Given the description of an element on the screen output the (x, y) to click on. 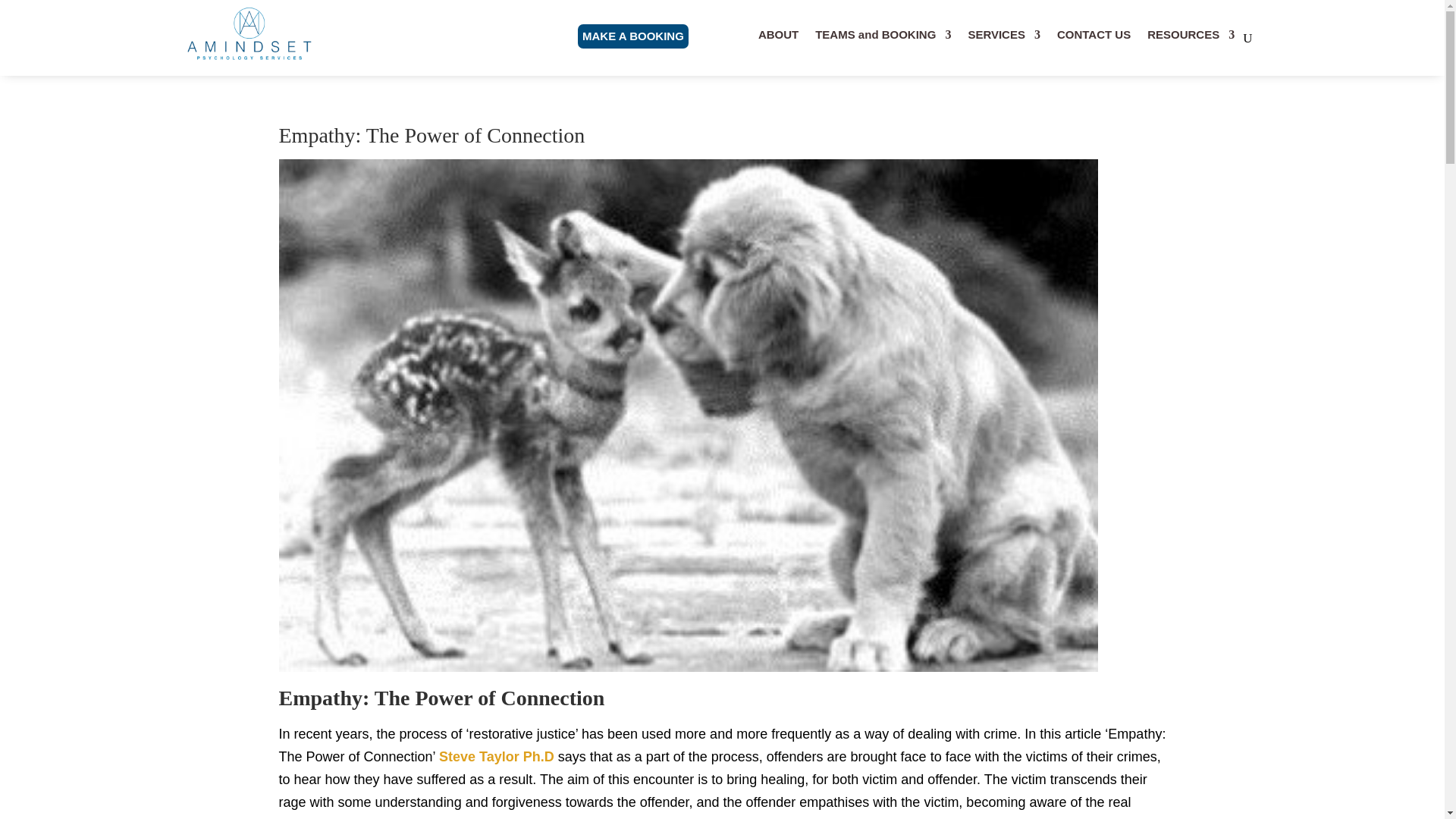
MAKE A BOOKING (633, 36)
CONTACT US (1094, 41)
RESOURCES (1190, 41)
TEAMS and BOOKING (882, 41)
SERVICES (1004, 41)
ABOUT (777, 41)
